Given the description of an element on the screen output the (x, y) to click on. 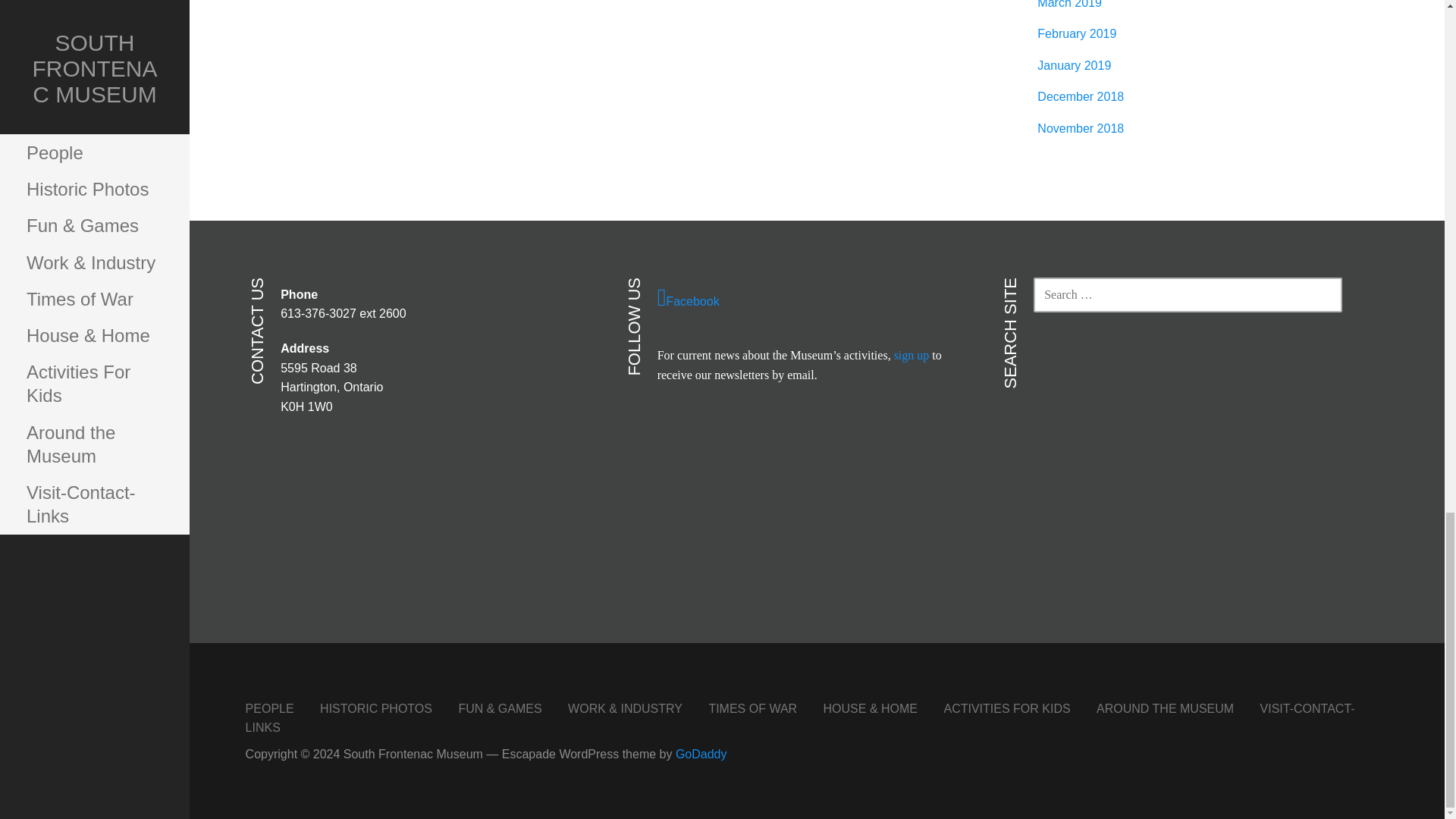
Visit South Frontenac Museum on Facebook (811, 298)
